Given the description of an element on the screen output the (x, y) to click on. 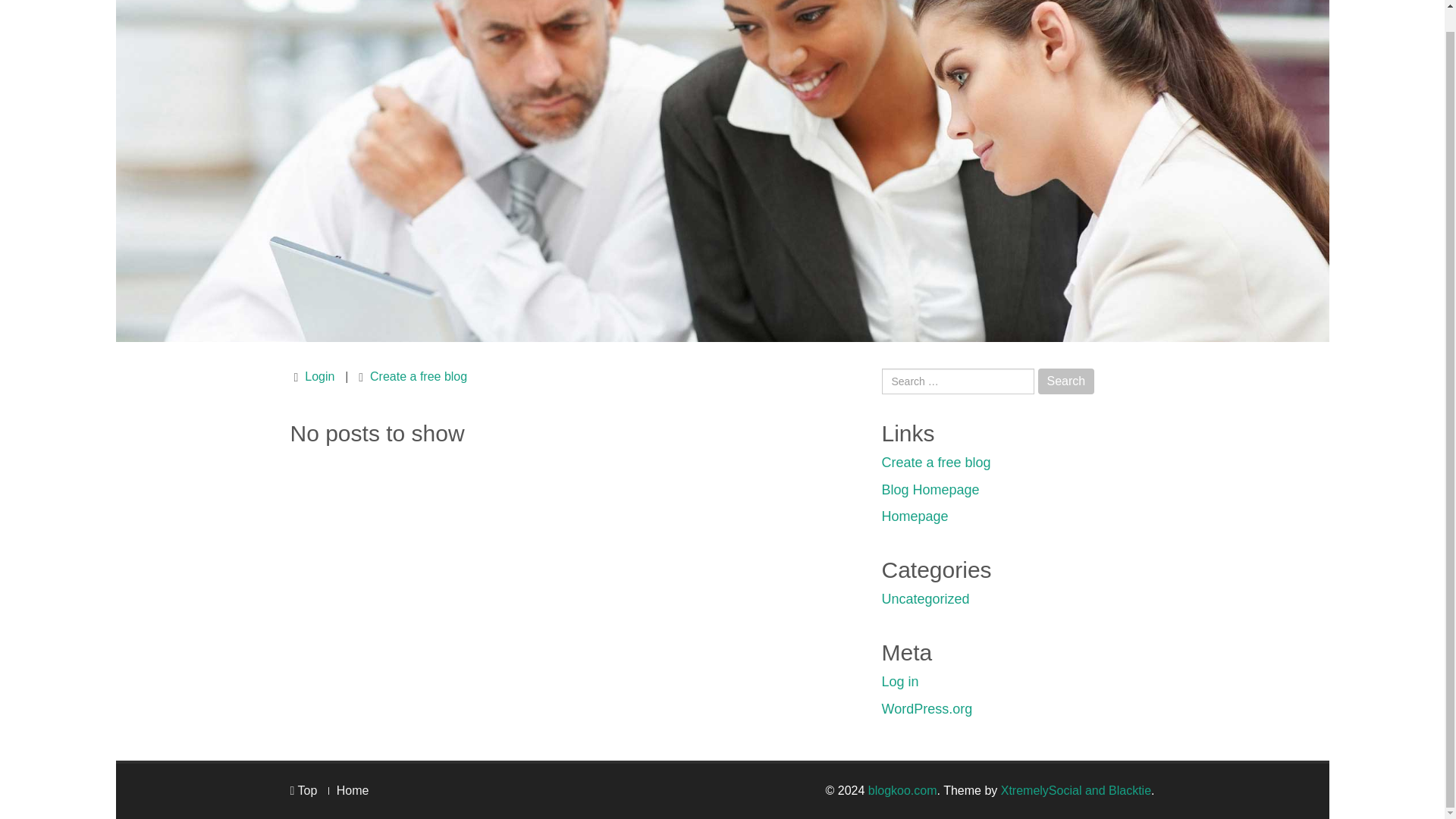
Search (1066, 380)
Home (352, 789)
WordPress.org (926, 708)
Create a free blog (935, 462)
Create a free blog (418, 376)
Top (303, 789)
Blog Homepage (929, 489)
Uncategorized (924, 598)
Log in (899, 681)
Home (352, 789)
Search (1066, 380)
XtremelySocial and Blacktie (1076, 789)
Back to top of page (303, 789)
Homepage (913, 516)
